Given the description of an element on the screen output the (x, y) to click on. 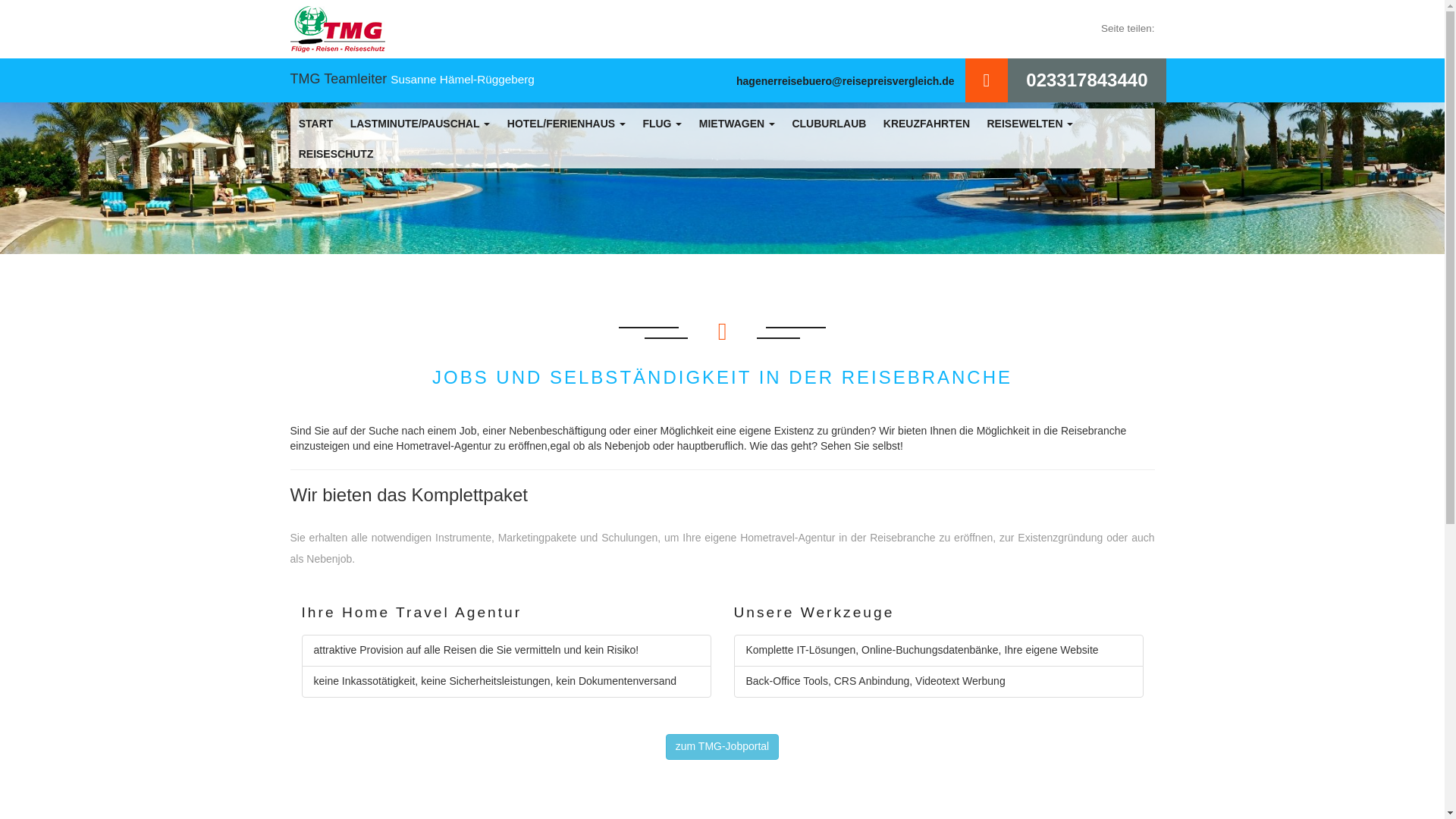
MIETWAGEN (736, 123)
zum TMG-Jobportal (721, 746)
REISESCHUTZ (336, 153)
Start (315, 123)
KREUZFAHRTEN (927, 123)
START (315, 123)
Reisepreisvergleich (336, 28)
Cluburlaub (829, 123)
CLUBURLAUB (829, 123)
Kreuzfahrten (927, 123)
